Given the description of an element on the screen output the (x, y) to click on. 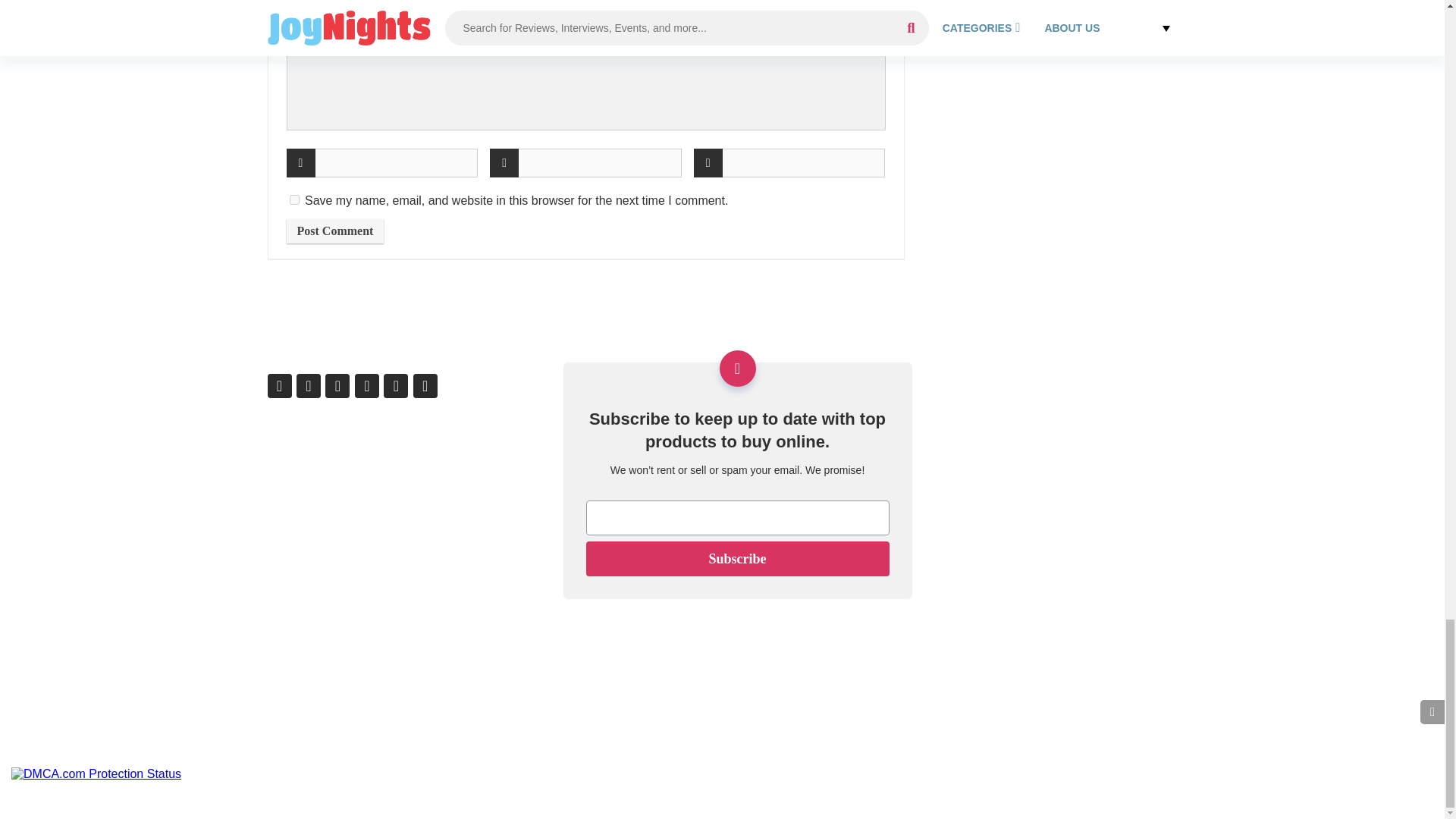
Post Comment (335, 231)
DMCA.com Protection Status (95, 773)
yes (294, 199)
Subscribe (736, 558)
